Given the description of an element on the screen output the (x, y) to click on. 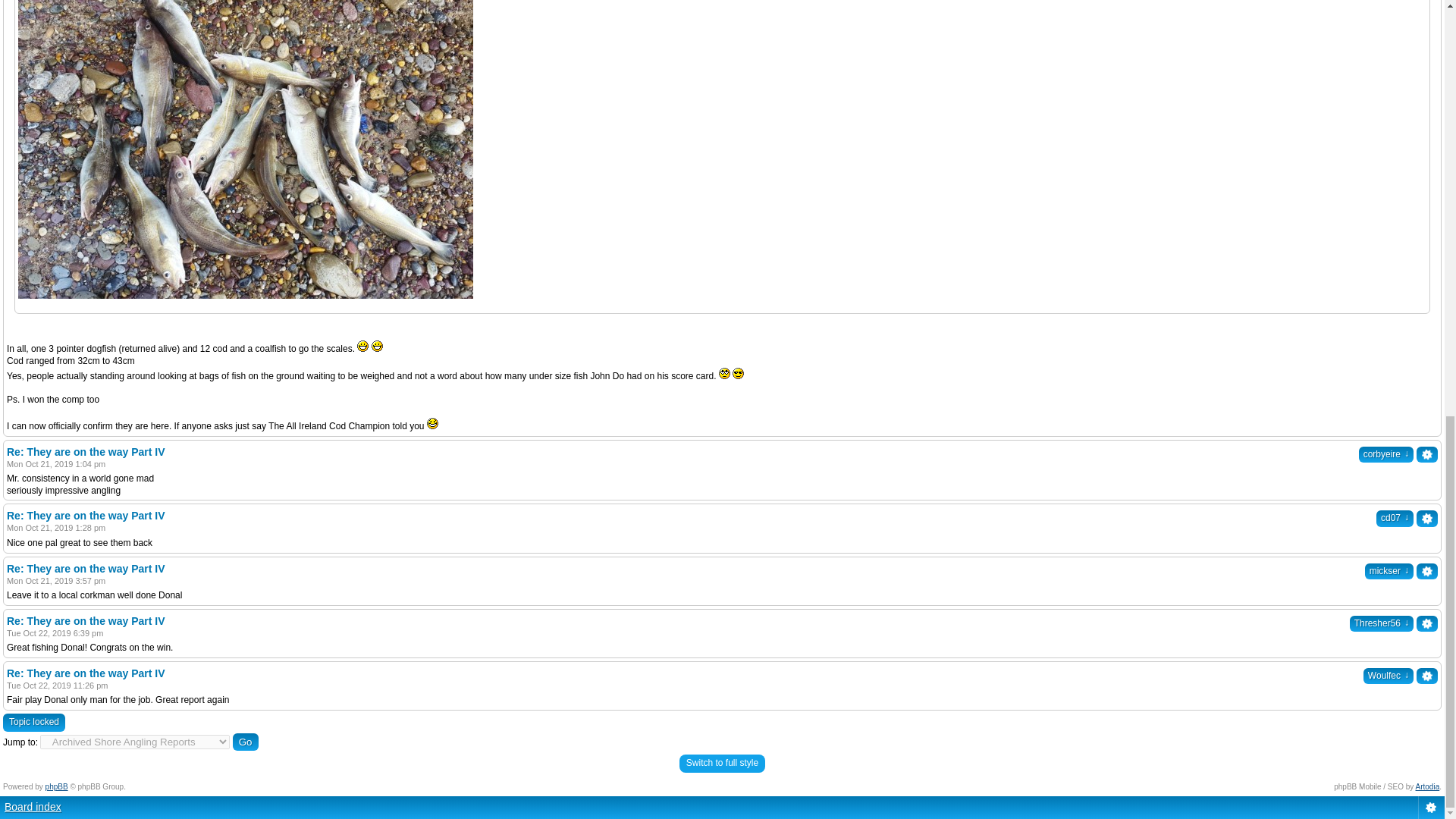
Go (245, 742)
Laughing (432, 423)
Cool (738, 373)
Very Happy (376, 346)
Very Happy (362, 346)
Rolling Eyes (724, 373)
